Given the description of an element on the screen output the (x, y) to click on. 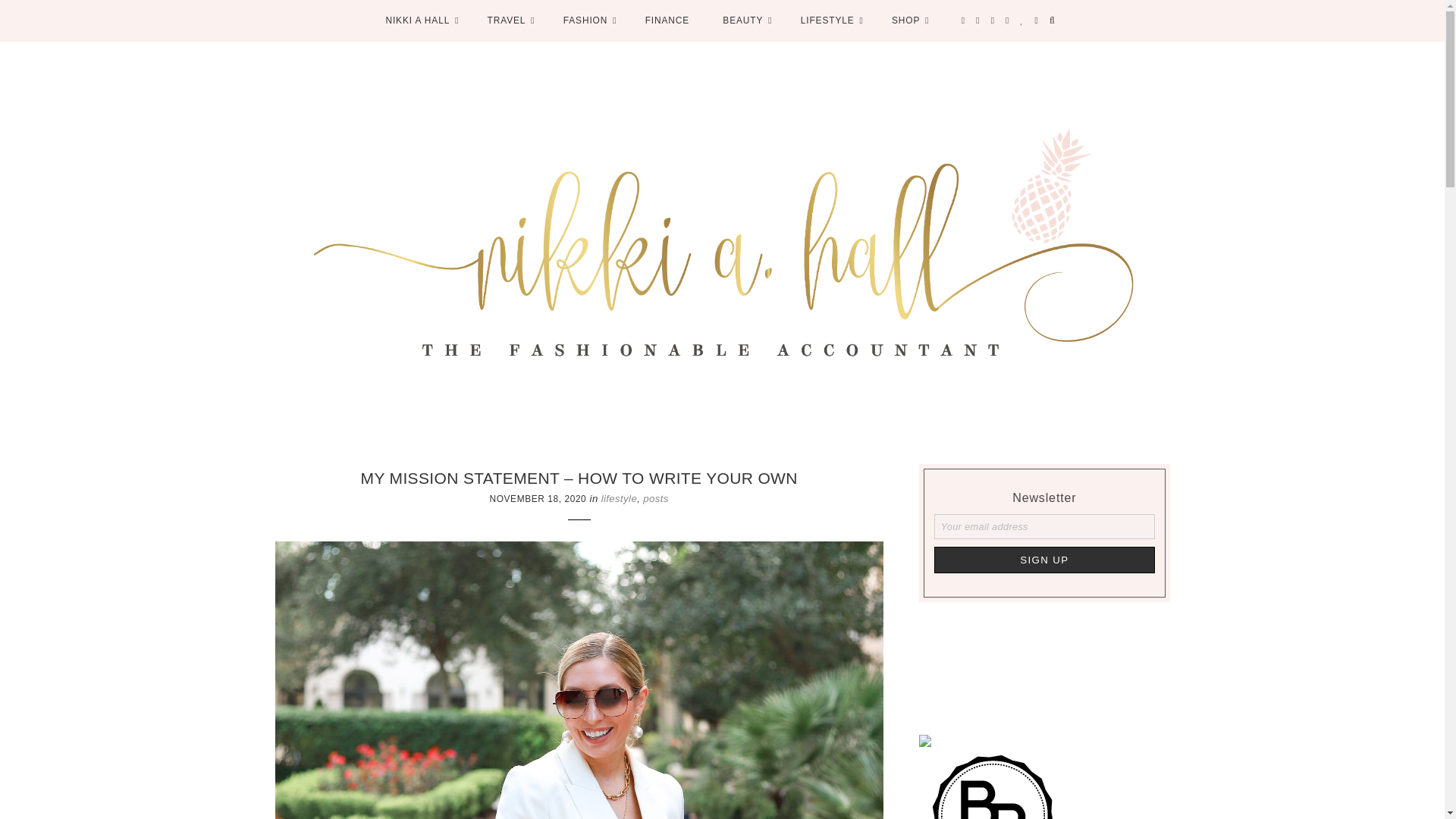
TRAVEL (508, 0)
BEAUTY (744, 0)
Sign up (1044, 560)
LIFESTYLE (829, 0)
NIKKI A HALL (418, 0)
FINANCE (666, 0)
FASHION (587, 0)
